Given the description of an element on the screen output the (x, y) to click on. 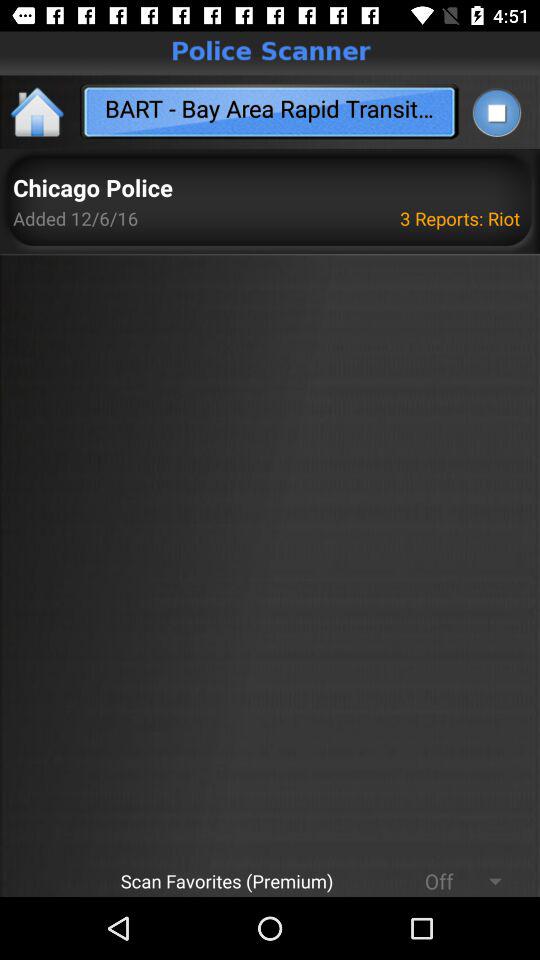
launch the item to the right of scan favorites (premium) (429, 880)
